Given the description of an element on the screen output the (x, y) to click on. 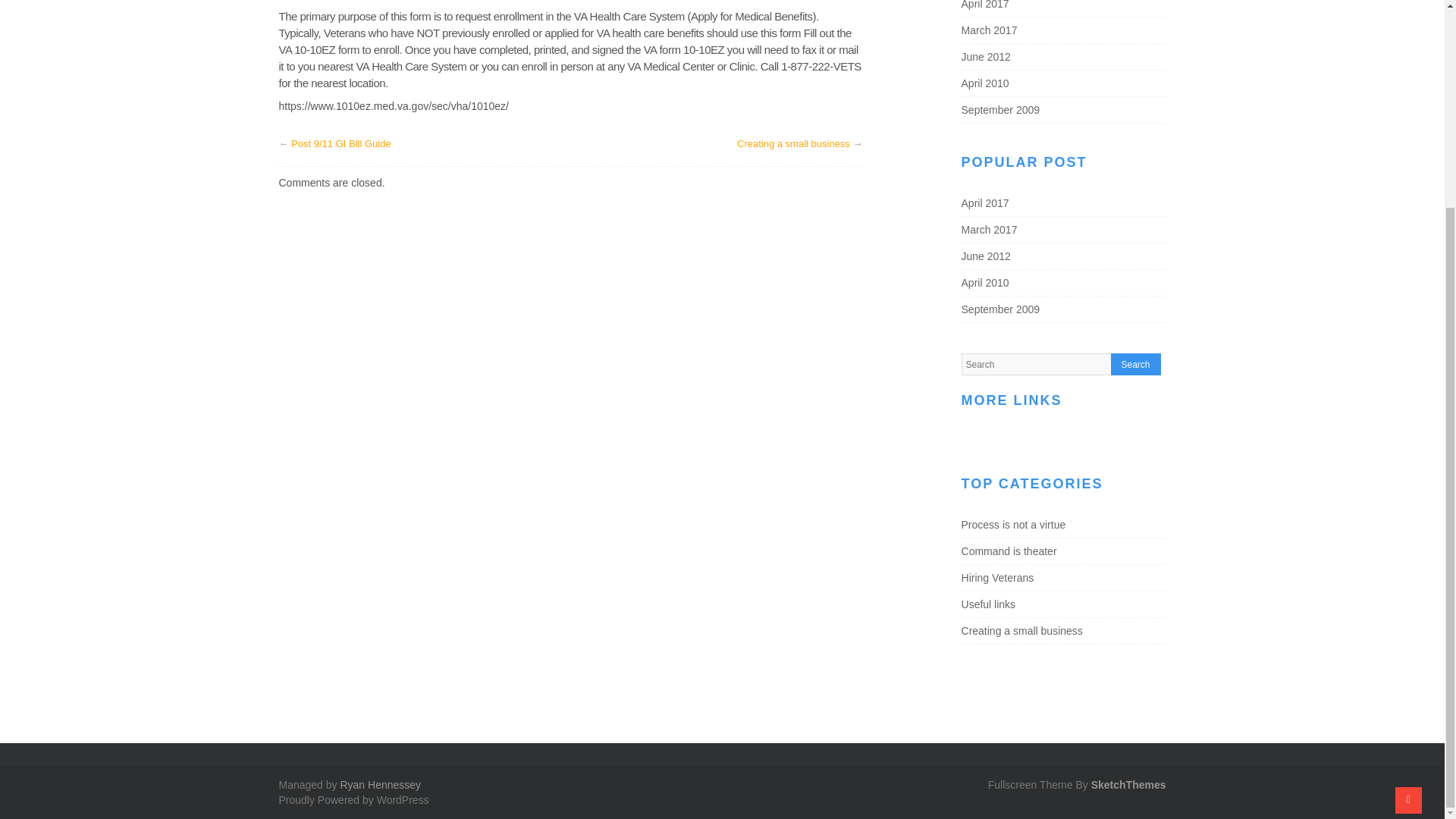
Command is theater (1008, 551)
Ryan Hennessey (379, 784)
SketchThemes (1128, 784)
June 2012 (985, 56)
Search (1135, 363)
June 2012 (985, 256)
Process is not a virtue (1012, 524)
March 2017 (988, 229)
Search (1135, 363)
April 2010 (984, 282)
April 2017 (984, 203)
April 2010 (984, 82)
Back To Top (1408, 532)
September 2009 (1000, 110)
Hiring Veterans (996, 577)
